Given the description of an element on the screen output the (x, y) to click on. 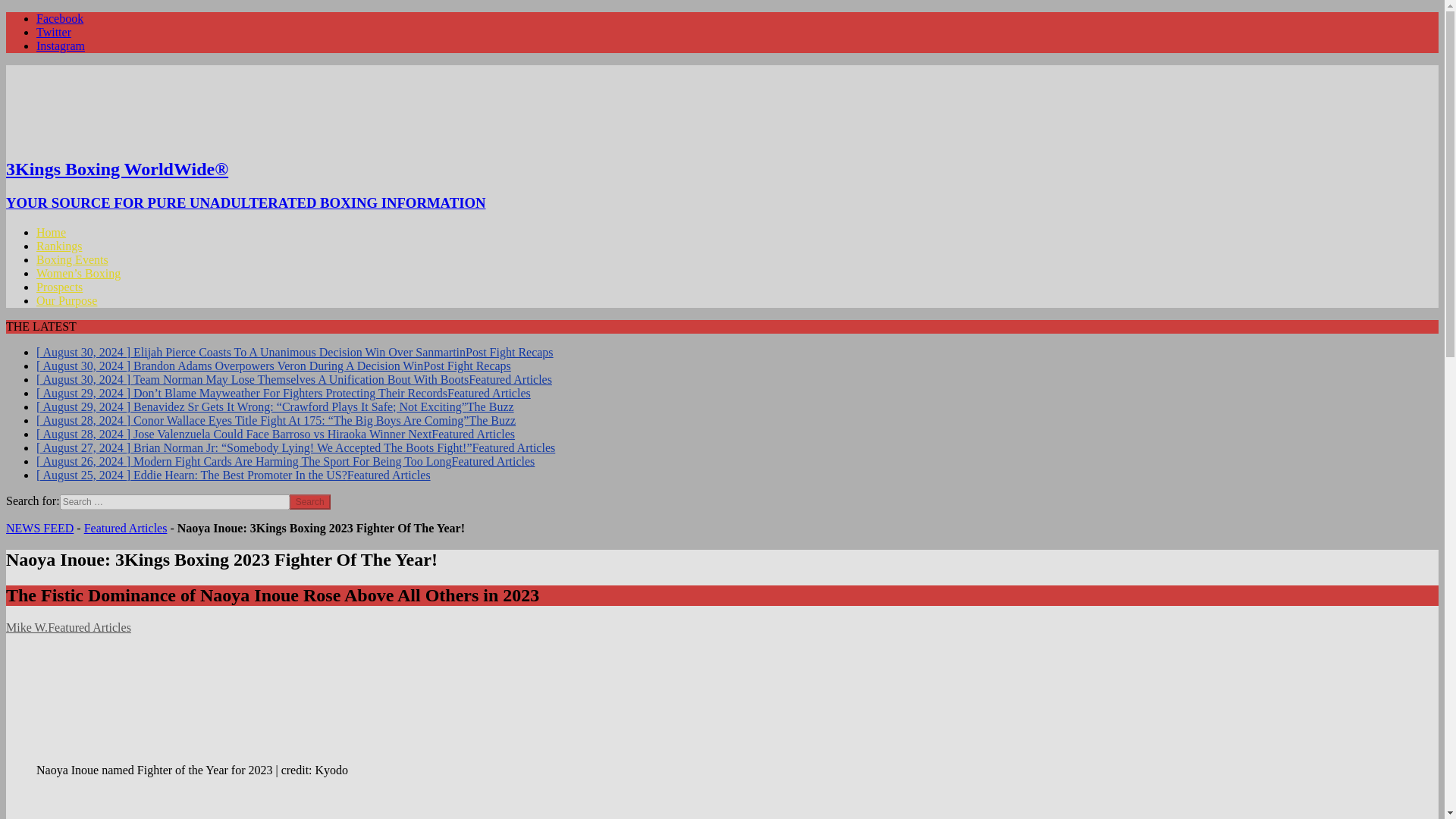
Mike W. (26, 626)
Twitter (53, 31)
Naoya Inoue named Fighter of the Year for 2023 (149, 703)
Facebook (59, 18)
Home (50, 232)
Follow 3Kings on Facebook (59, 18)
Eddie Hearn: The Best Promoter In the US? (233, 474)
Brandon Adams Overpowers Veron During A Decision Win (273, 365)
Prospects (59, 286)
